Given the description of an element on the screen output the (x, y) to click on. 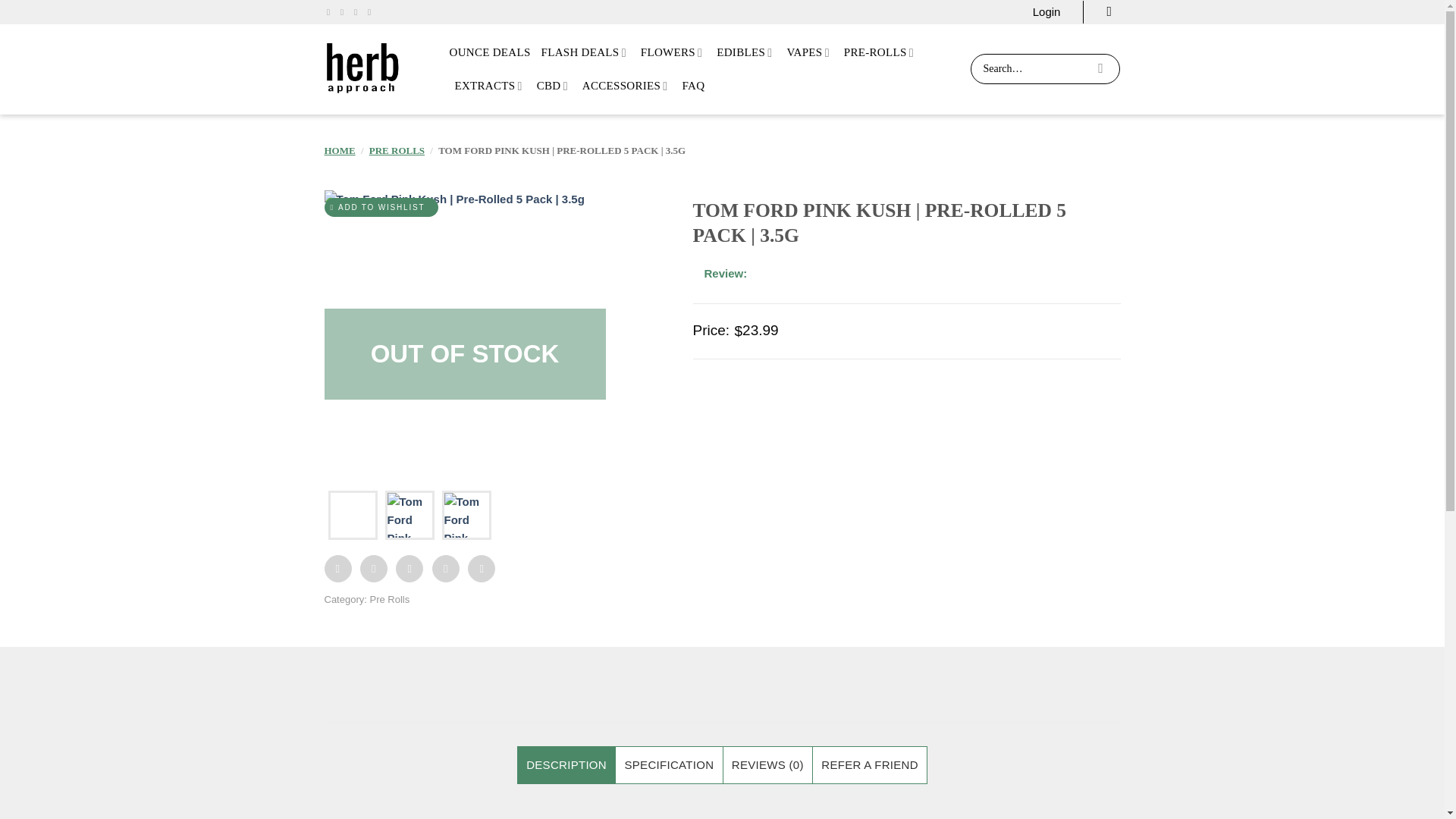
Login (1046, 11)
EDIBLES (746, 52)
FLOWERS (673, 52)
OUNCE DEALS (488, 52)
FLASH DEALS (585, 52)
Send us an email (371, 11)
Follow on Twitter (357, 11)
Tom-Ford-Pink-Kush-22028129.jpg (745, 330)
Share on Facebook (338, 568)
Share on Twitter (373, 568)
